Given the description of an element on the screen output the (x, y) to click on. 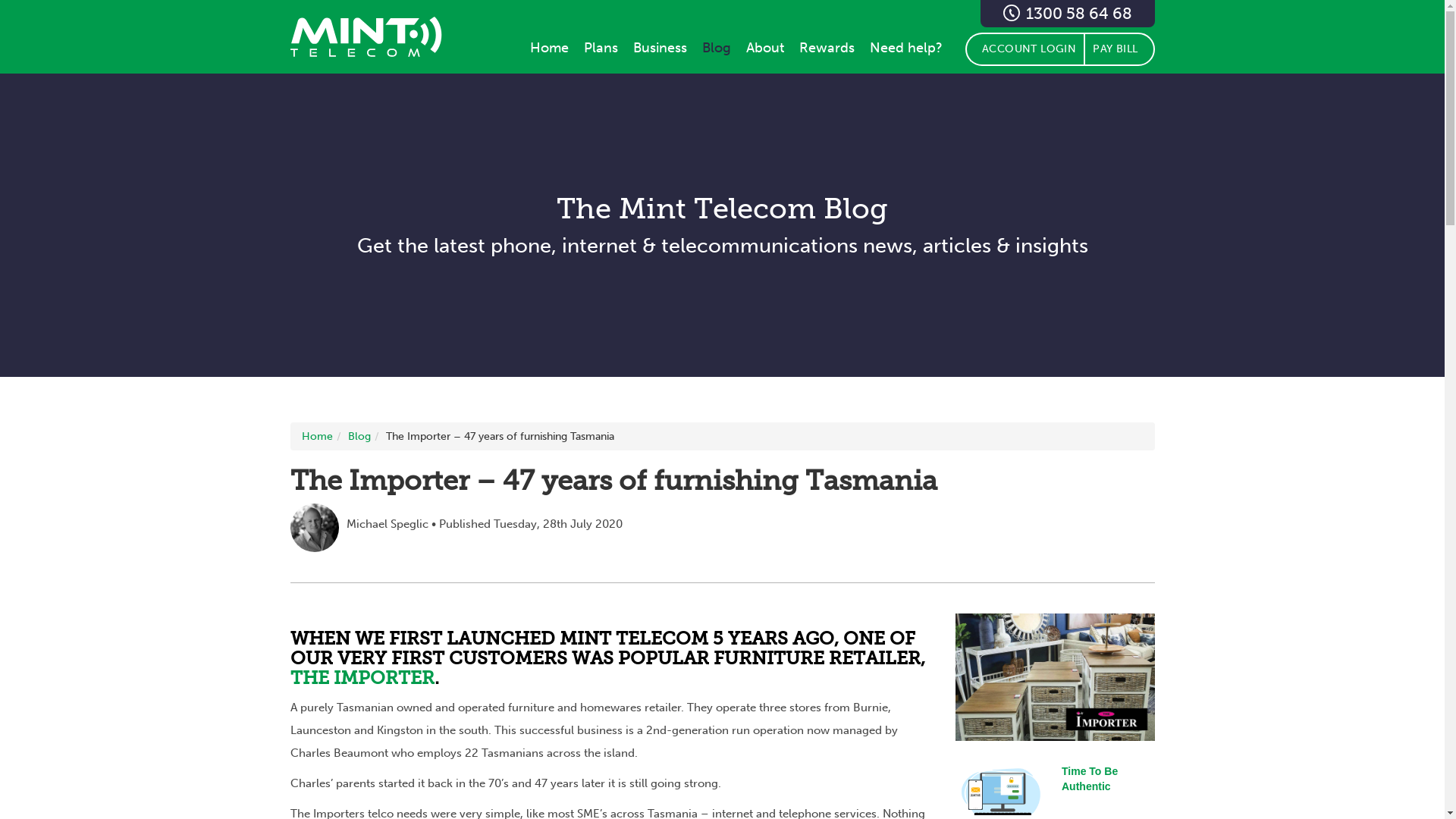
Plans Element type: text (600, 47)
Time To Be Authentic Element type: text (1089, 778)
Home Element type: text (549, 47)
PAY BILL Element type: text (1118, 48)
Rewards Element type: text (826, 47)
Blog Element type: text (358, 435)
THE IMPORTER Element type: text (361, 677)
Need help? Element type: text (906, 47)
Blog Element type: text (716, 47)
ACCOUNT LOGIN Element type: text (1024, 48)
Home Element type: text (316, 435)
1300 58 64 68 Element type: text (1066, 13)
About Element type: text (764, 47)
Business Element type: text (659, 47)
